Given the description of an element on the screen output the (x, y) to click on. 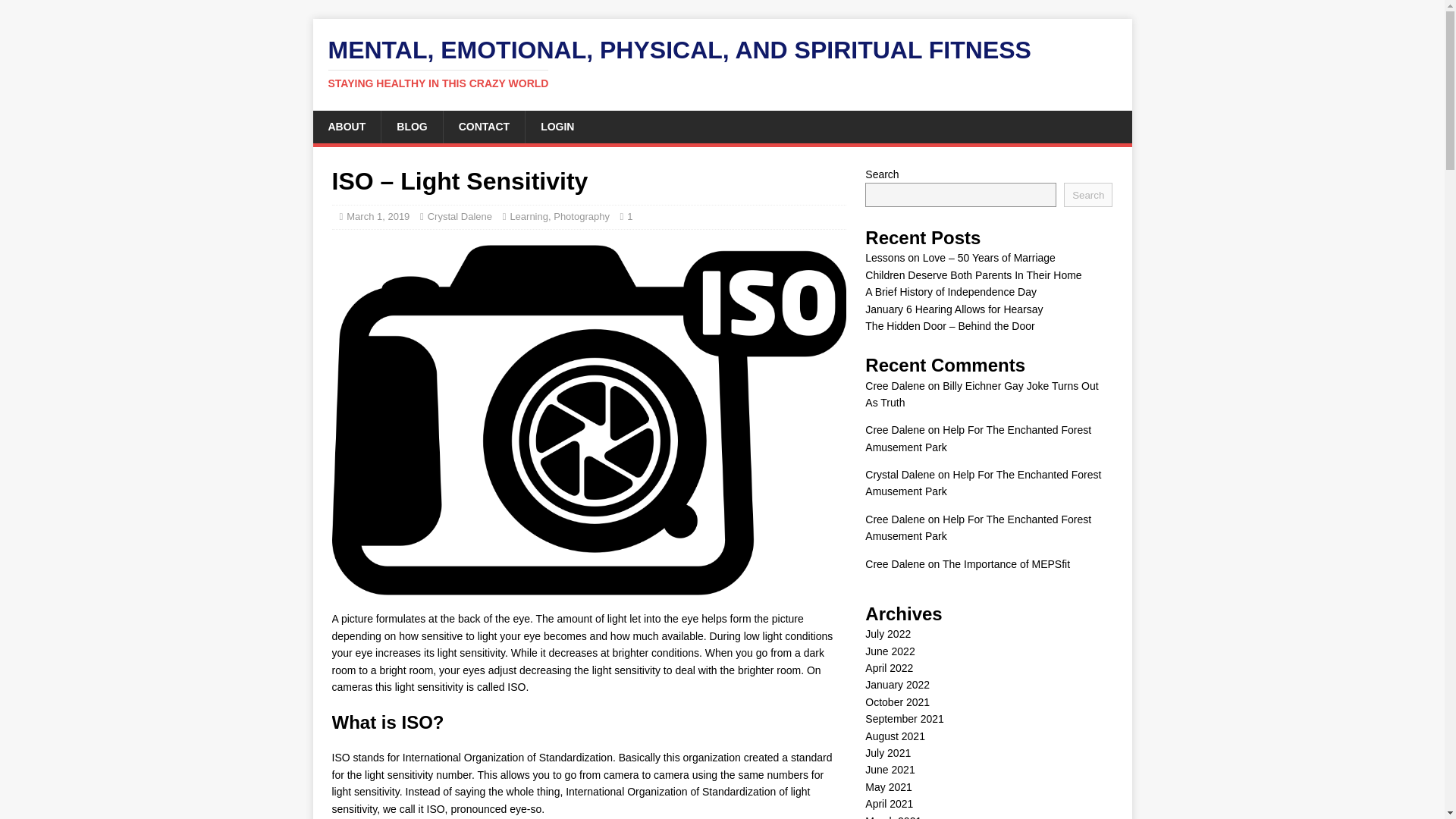
A Brief History of Independence Day (950, 291)
Search (1088, 194)
The Importance of MEPSfit (1006, 563)
Cree Dalene (894, 429)
Crystal Dalene (460, 215)
Children Deserve Both Parents In Their Home (972, 275)
Billy Eichner Gay Joke Turns Out As Truth (980, 393)
Photography (581, 215)
Mental, Emotional, Physical, and Spiritual Fitness (721, 63)
January 6 Hearing Allows for Hearsay (953, 309)
ABOUT (346, 126)
Learning (528, 215)
CONTACT (483, 126)
